Given the description of an element on the screen output the (x, y) to click on. 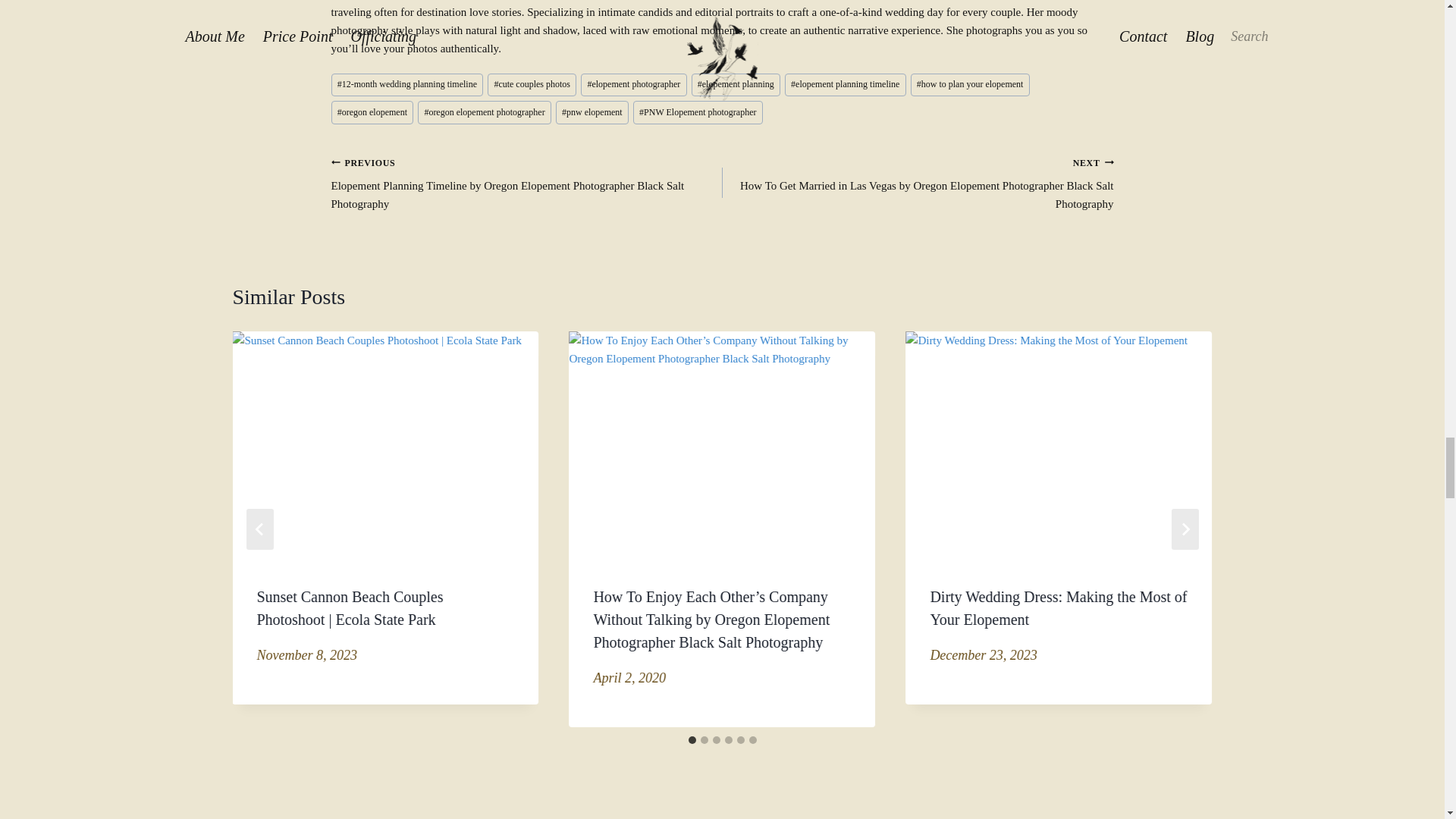
how to plan your elopement (970, 85)
elopement planning timeline (844, 85)
12-month wedding planning timeline (406, 85)
oregon elopement (371, 112)
pnw elopement (592, 112)
oregon elopement photographer (484, 112)
elopement photographer (632, 85)
elopement planning (735, 85)
PNW Elopement photographer (697, 112)
cute couples photos (531, 85)
